Given the description of an element on the screen output the (x, y) to click on. 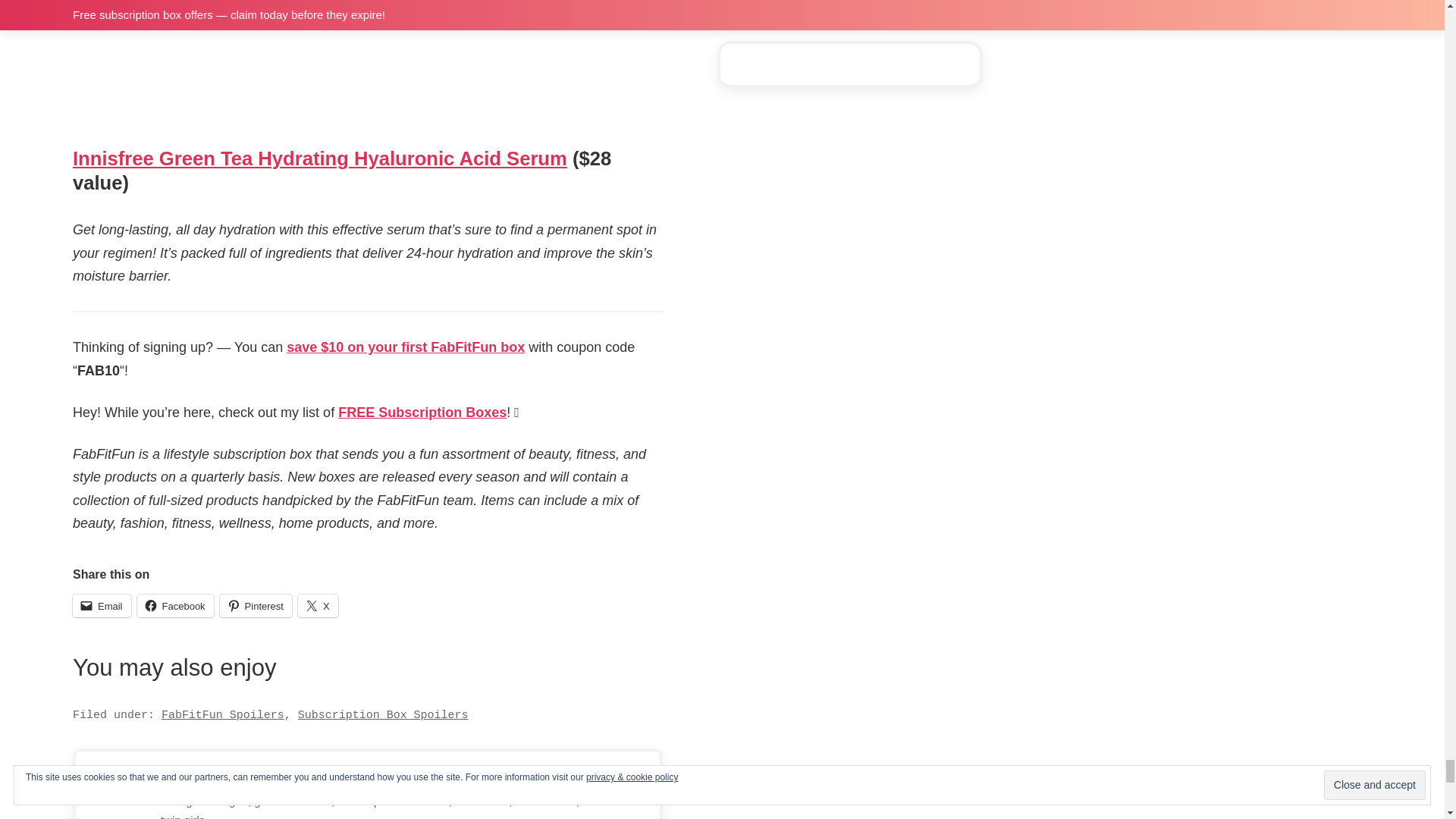
Click to share on Pinterest (255, 605)
Click to share on Facebook (175, 605)
Click to share on X (317, 605)
Click to email a link to a friend (101, 605)
